Given the description of an element on the screen output the (x, y) to click on. 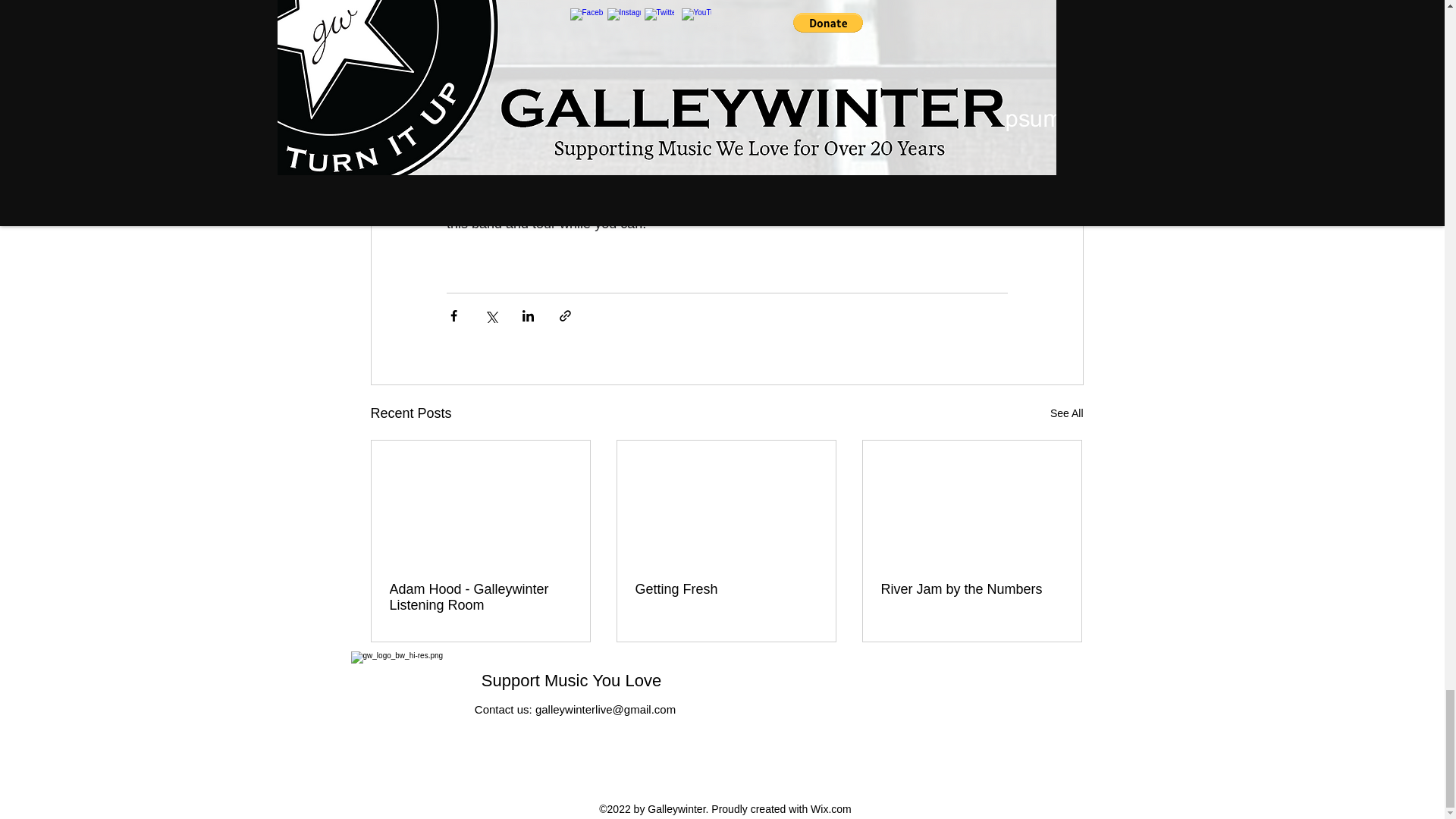
See All (1066, 413)
